Given the description of an element on the screen output the (x, y) to click on. 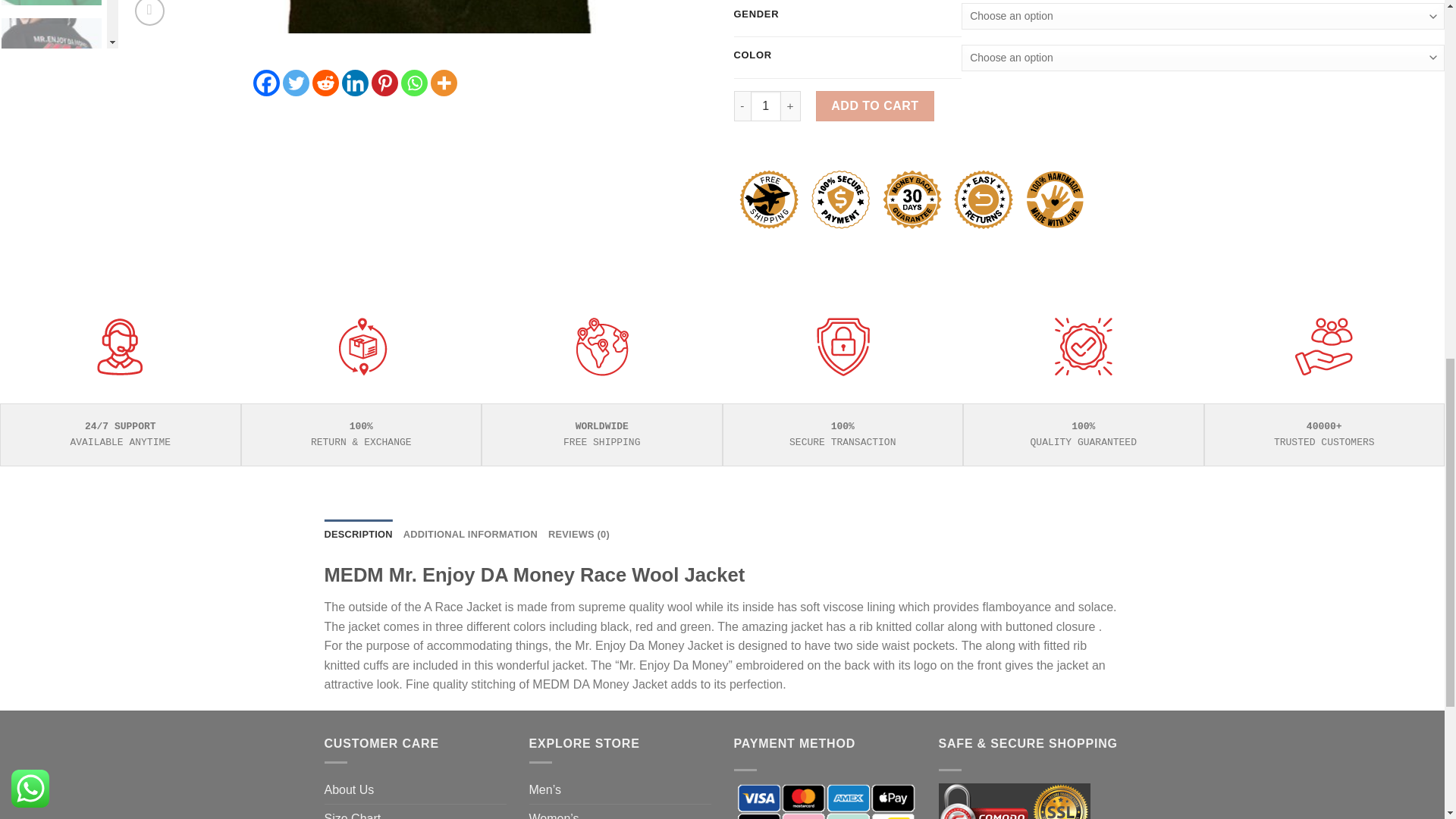
green-jacket-mr-enjoy-da-money (62, 16)
medm-race-jacket (414, 16)
1 (765, 105)
